Given the description of an element on the screen output the (x, y) to click on. 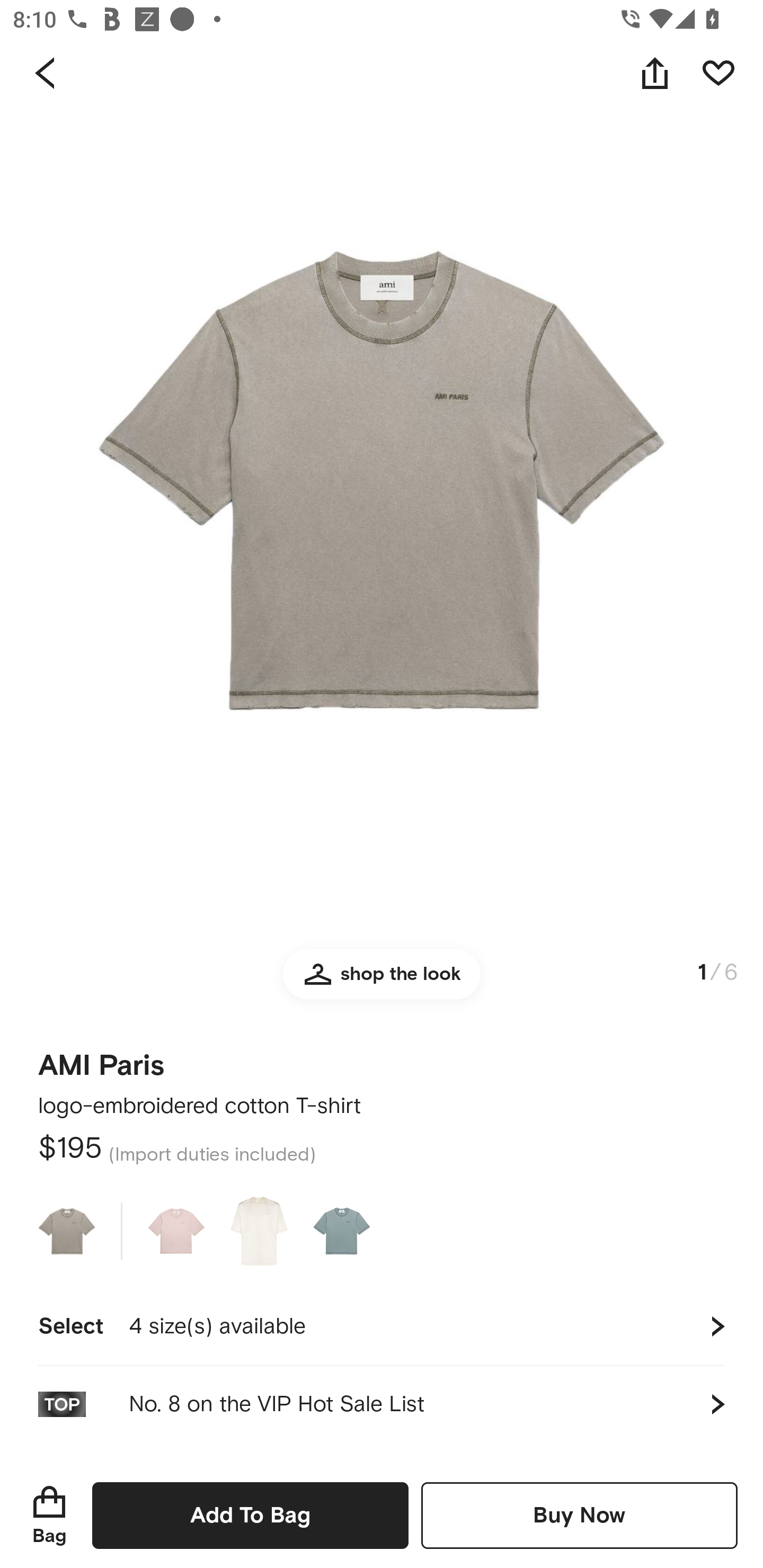
shop the look (381, 982)
AMI Paris (101, 1059)
Select 4 size(s) available (381, 1326)
No. 8 on the VIP Hot Sale List (381, 1403)
Bag (49, 1515)
Add To Bag (250, 1515)
Buy Now (579, 1515)
